Given the description of an element on the screen output the (x, y) to click on. 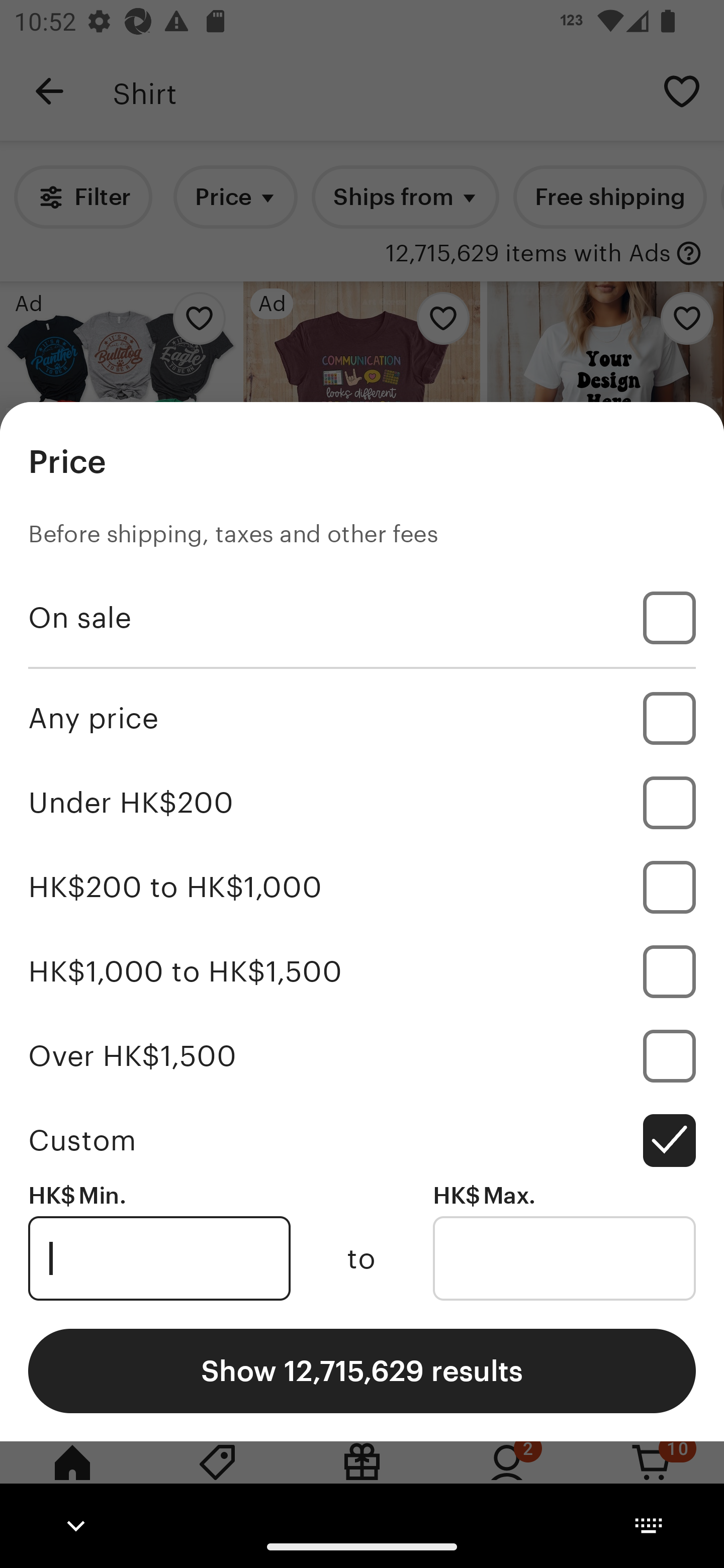
On sale (362, 617)
Any price (362, 717)
Under HK$200 (362, 802)
HK$200 to HK$1,000 (362, 887)
HK$1,000 to HK$1,500 (362, 970)
Over HK$1,500 (362, 1054)
Custom (362, 1139)
Show 12,715,629 results (361, 1370)
